Given the description of an element on the screen output the (x, y) to click on. 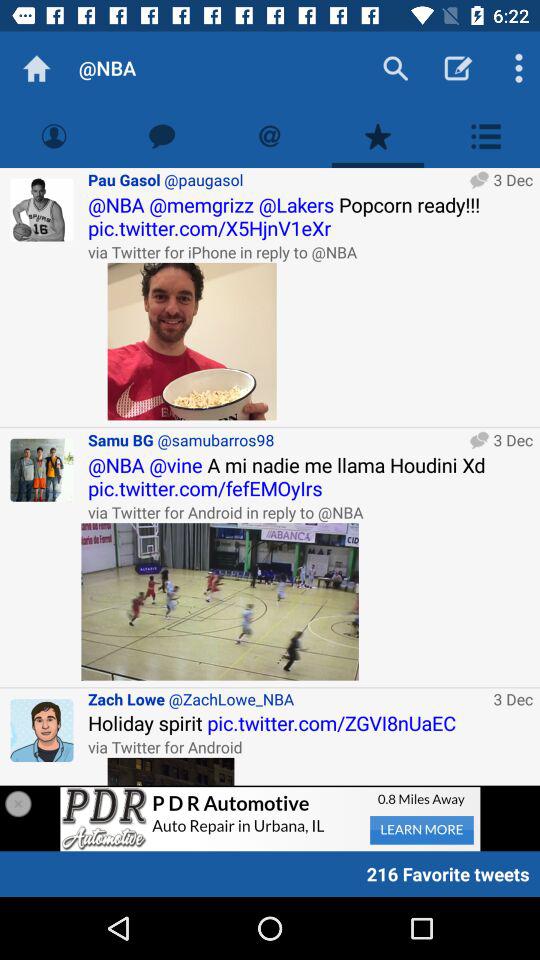
tag user (270, 136)
